Given the description of an element on the screen output the (x, y) to click on. 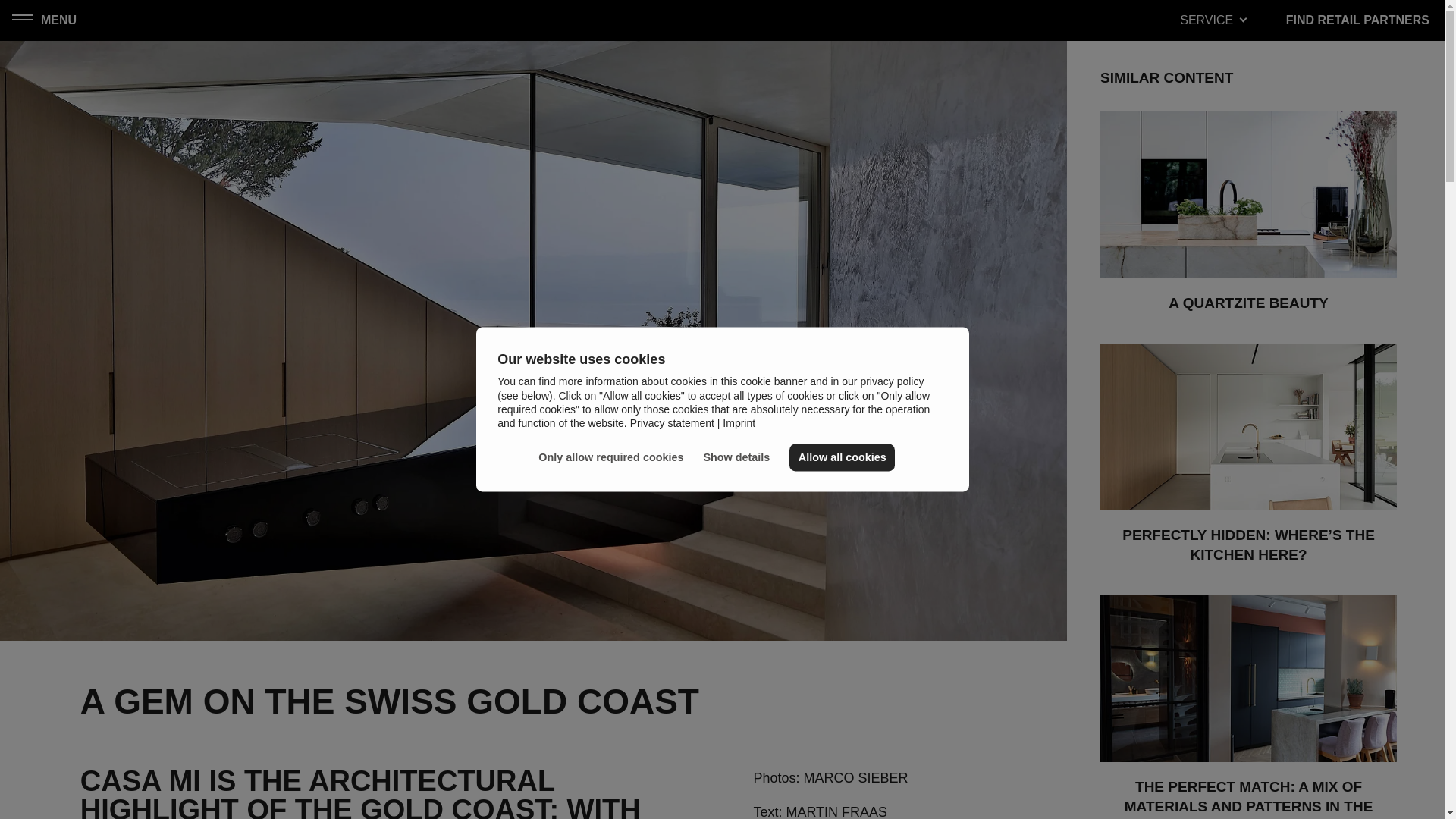
Privacy statement (672, 422)
Show details (743, 457)
Privacy statement (672, 422)
Only allow required cookies (617, 457)
Imprint (736, 422)
Imprint (736, 422)
Allow all cookies (842, 456)
